Given the description of an element on the screen output the (x, y) to click on. 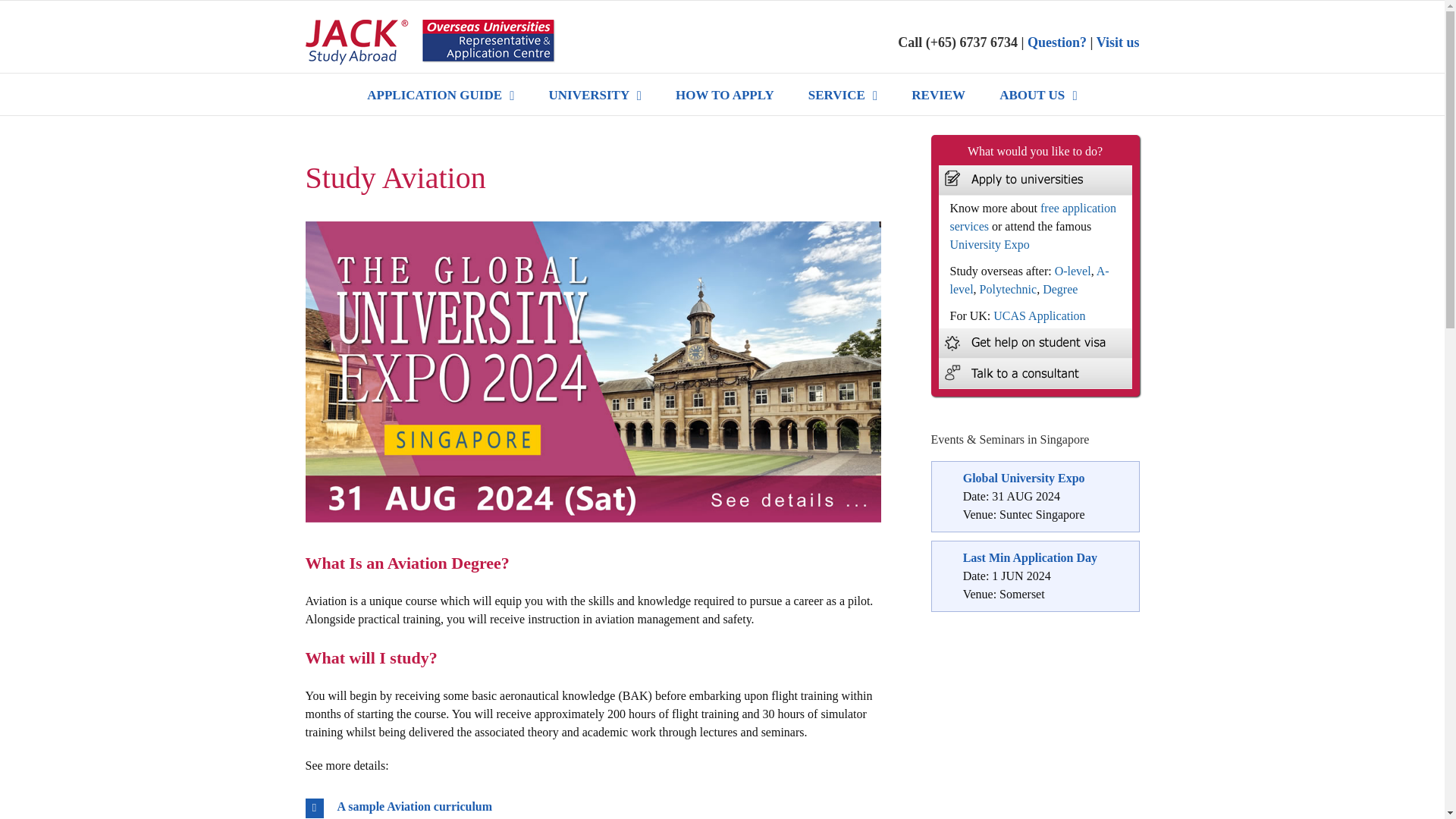
SERVICE (842, 94)
HOW TO APPLY (724, 94)
Question? (1056, 42)
ABOUT US (1037, 94)
APPLICATION GUIDE (439, 94)
Visit us (1118, 42)
UNIVERSITY (595, 94)
REVIEW (938, 94)
